Given the description of an element on the screen output the (x, y) to click on. 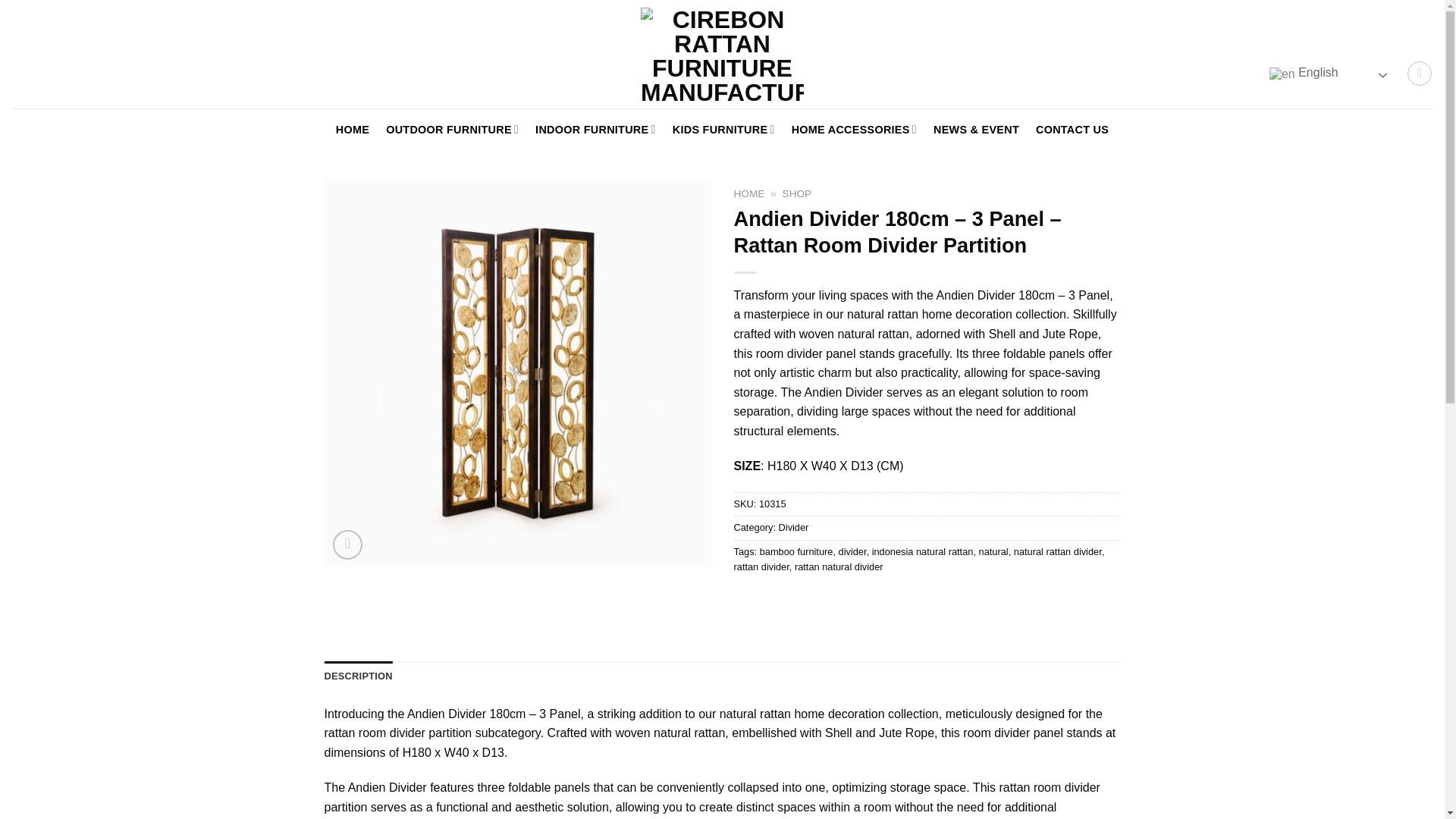
HOME (352, 129)
OUTDOOR FURNITURE (451, 129)
English (1330, 72)
